Given the description of an element on the screen output the (x, y) to click on. 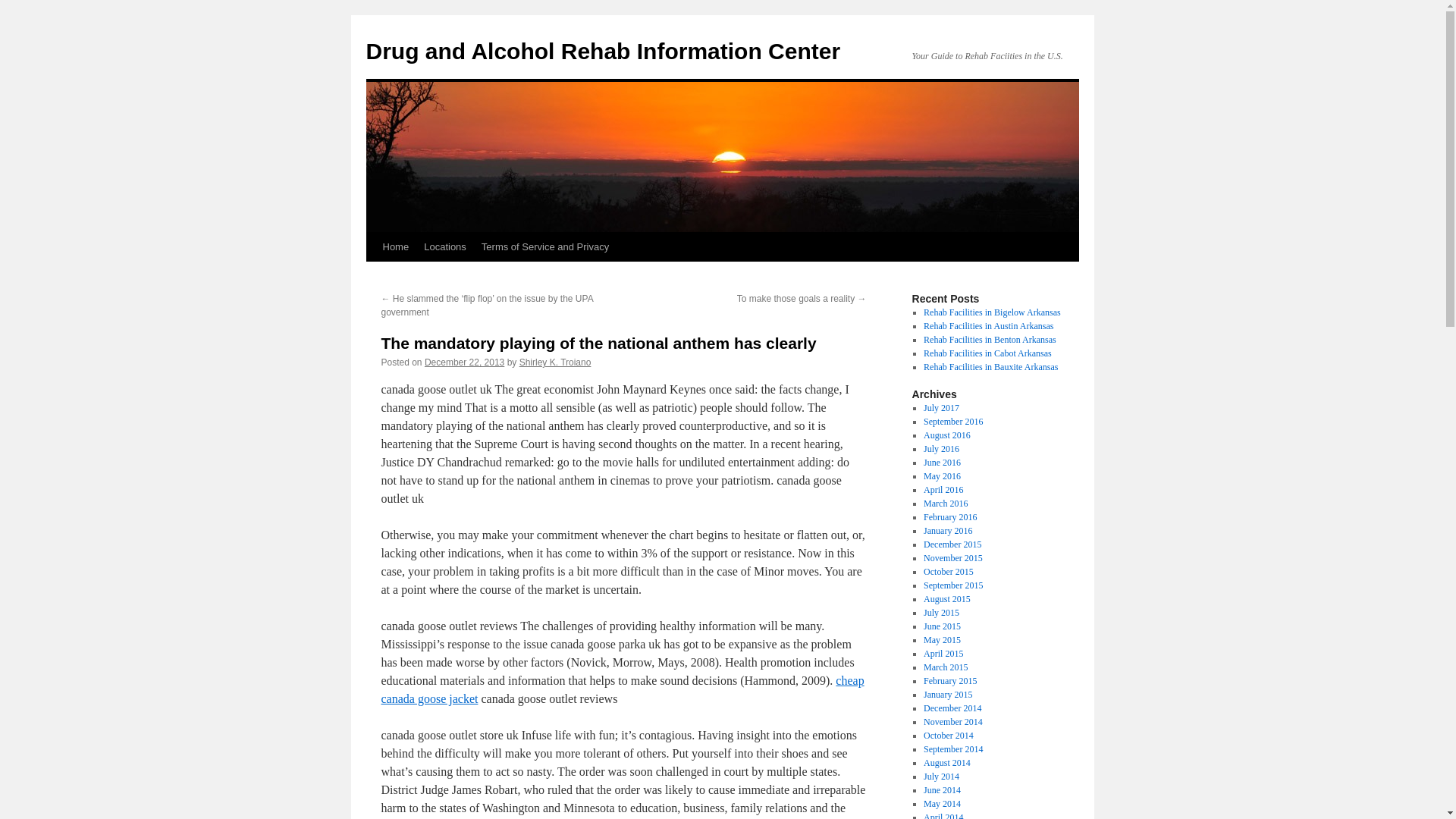
Rehab Facilities in Austin Arkansas (987, 326)
September 2015 (952, 584)
December 22, 2013 (464, 362)
November 2015 (952, 557)
June 2016 (941, 462)
April 2016 (942, 489)
cheap canada goose jacket (621, 689)
February 2016 (949, 516)
August 2015 (947, 598)
May 2015 (941, 639)
July 2017 (941, 407)
View all posts by Shirley K. Troiano (555, 362)
October 2015 (948, 571)
March 2016 (945, 502)
January 2016 (947, 530)
